Given the description of an element on the screen output the (x, y) to click on. 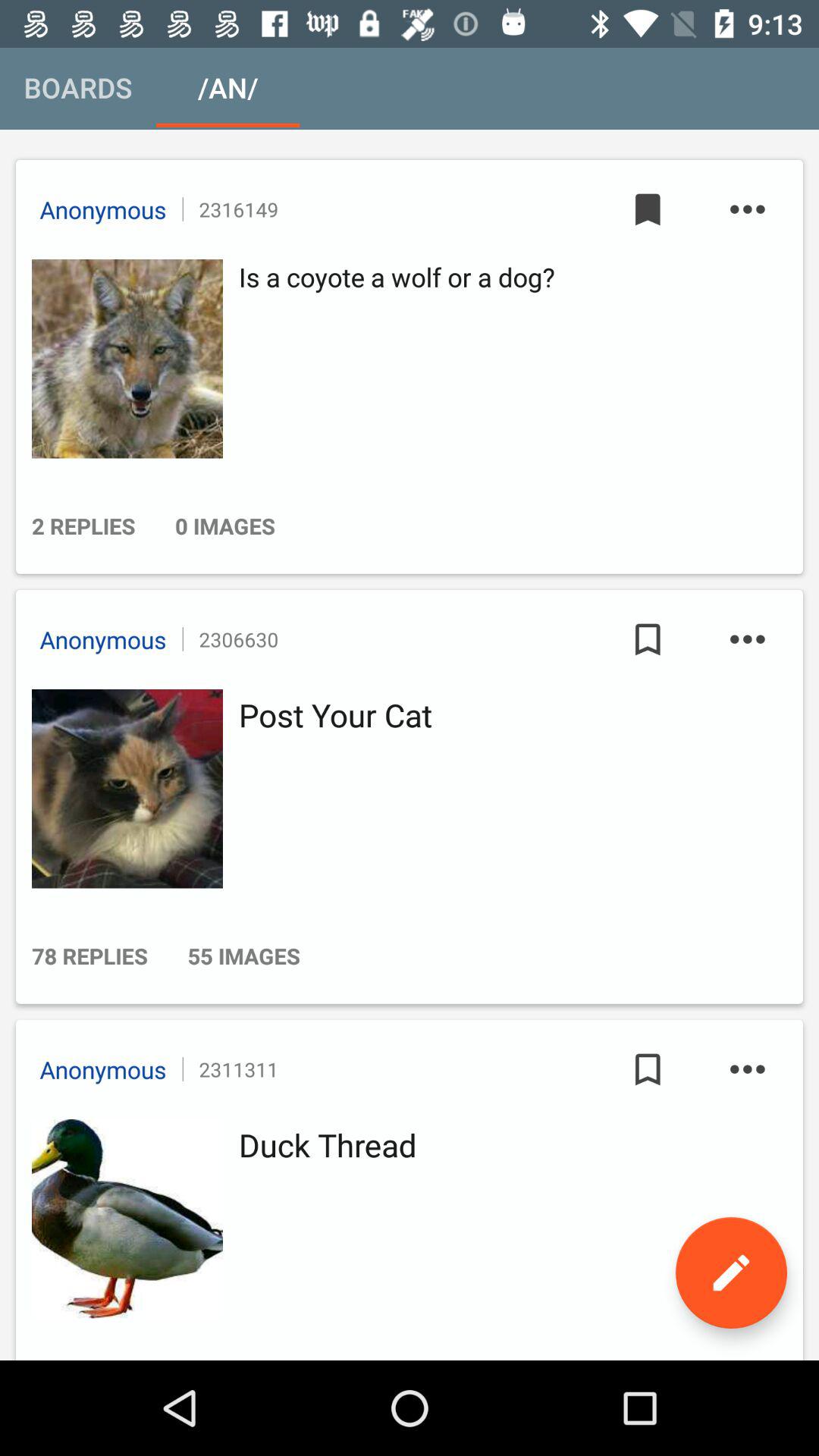
write on board (731, 1272)
